Given the description of an element on the screen output the (x, y) to click on. 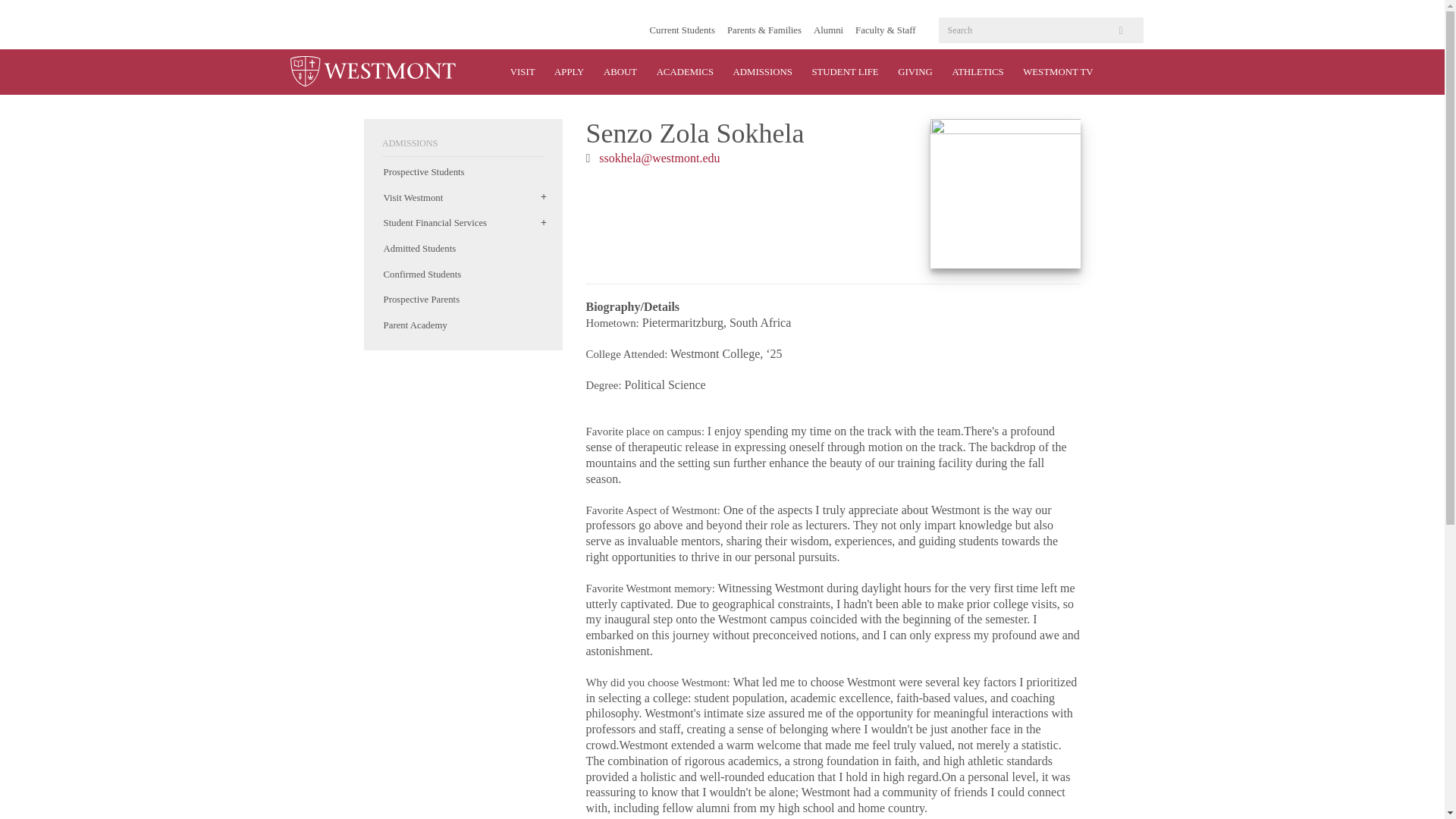
home (371, 72)
Apply (569, 72)
Alumni (828, 30)
ABOUT (620, 72)
ACADEMICS (684, 72)
VISIT (522, 72)
Alumni (828, 30)
APPLY (569, 72)
Visit (522, 72)
